Given the description of an element on the screen output the (x, y) to click on. 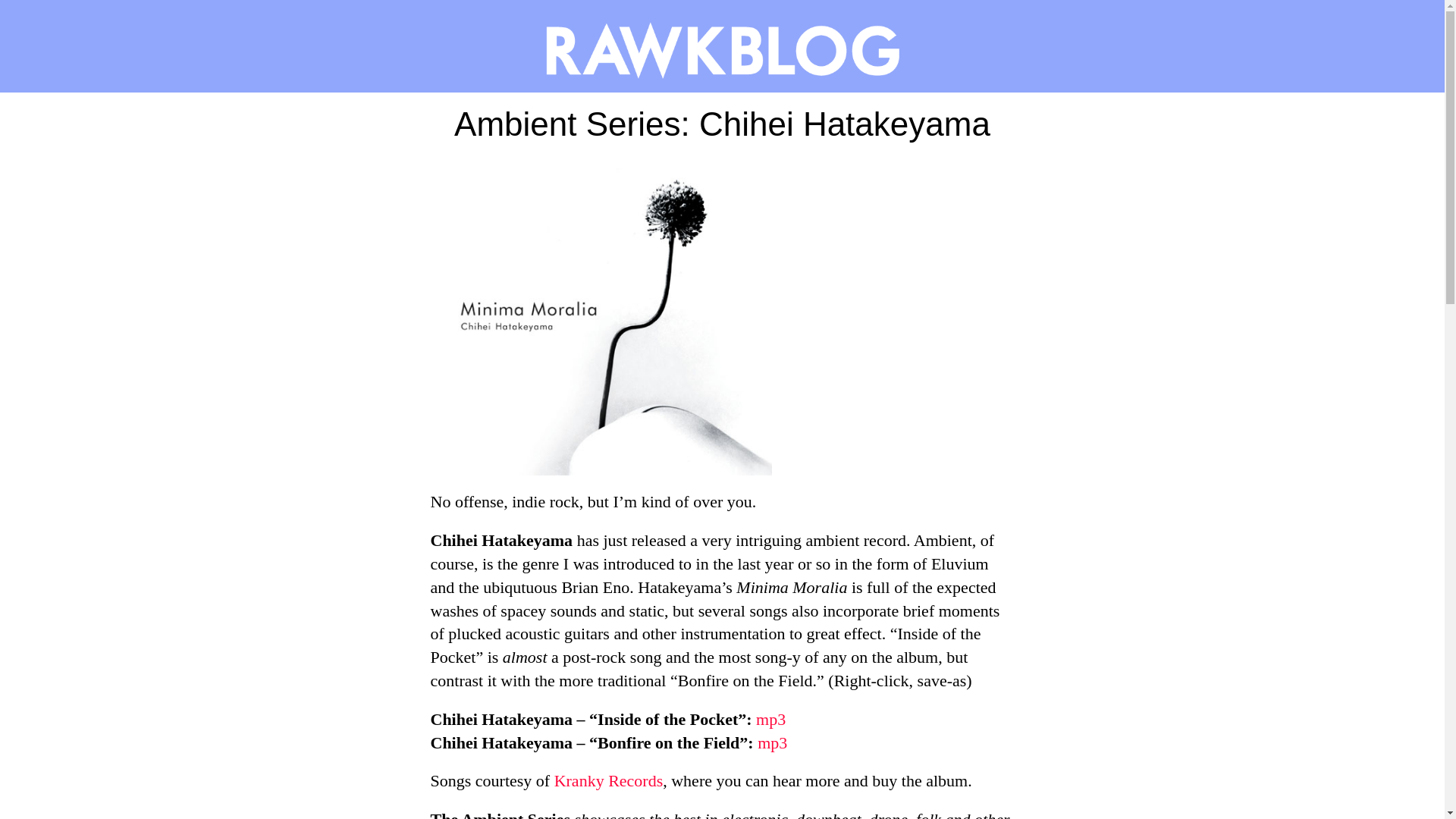
Rawkblog (721, 46)
Kranky Records (608, 780)
mp3 (770, 719)
mp3 (772, 742)
Ambient Series: Chihei Hatakeyama (722, 129)
